Given the description of an element on the screen output the (x, y) to click on. 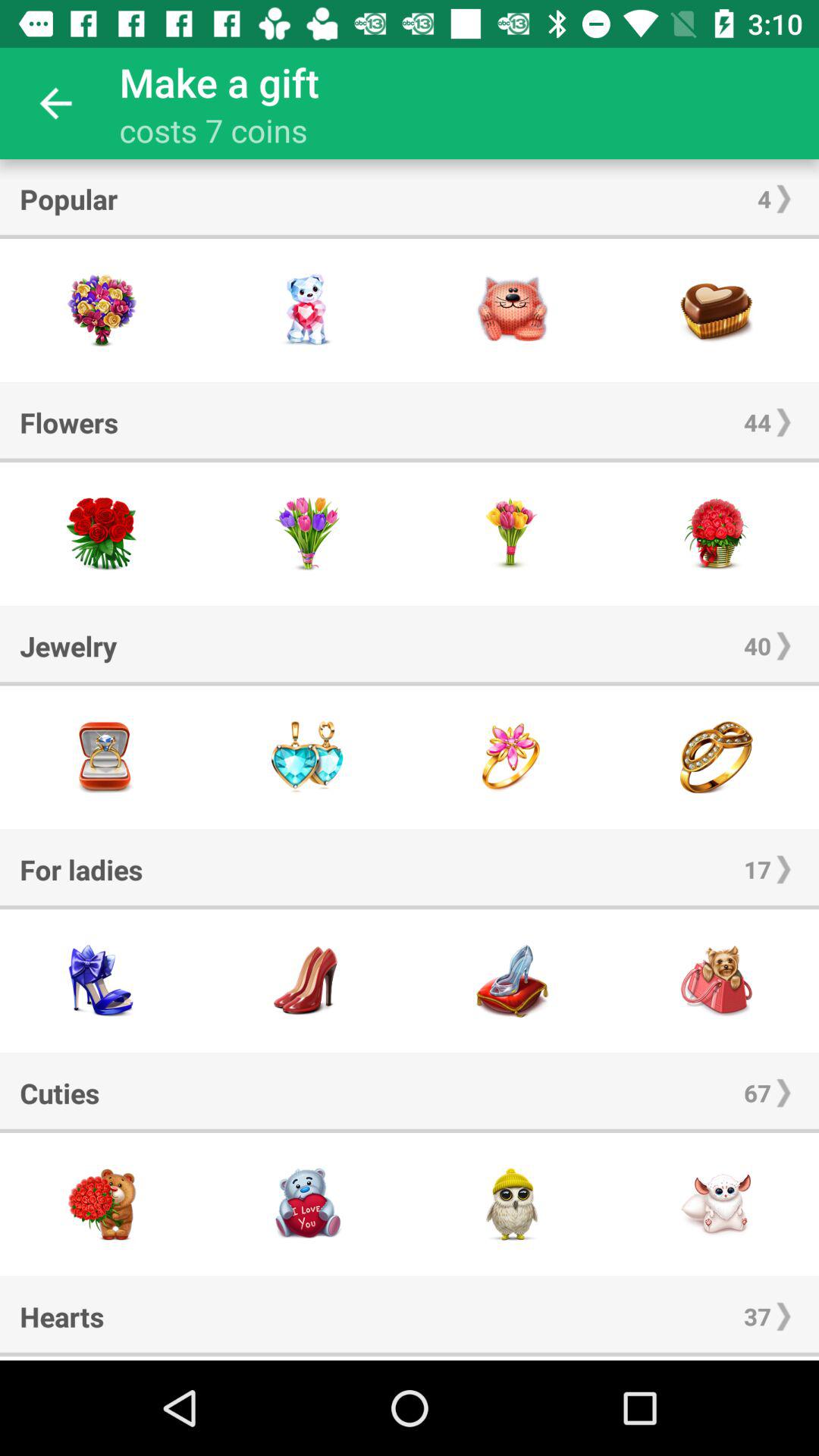
select this flower as gift (511, 533)
